Given the description of an element on the screen output the (x, y) to click on. 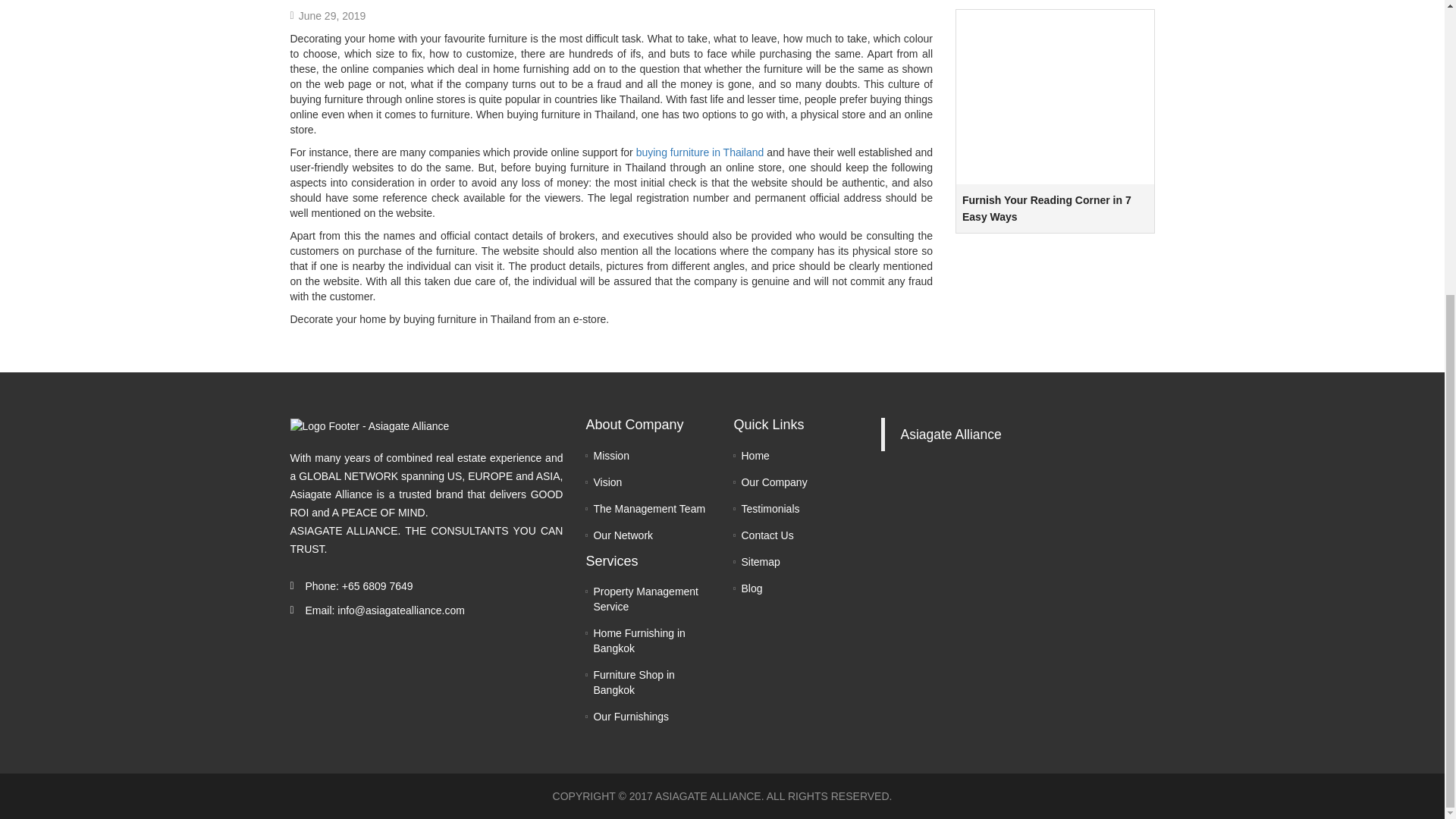
Property Management Service (645, 598)
Furniture Shop in Bangkok (633, 682)
Our Furnishings (630, 716)
Testimonials (770, 508)
Home Furnishing in Bangkok (638, 640)
Mission (610, 455)
buying furniture in Thailand (700, 152)
Our Network (622, 535)
Our Company (773, 481)
Furnish Your Reading Corner in 7 Easy Ways (1055, 255)
